Given the description of an element on the screen output the (x, y) to click on. 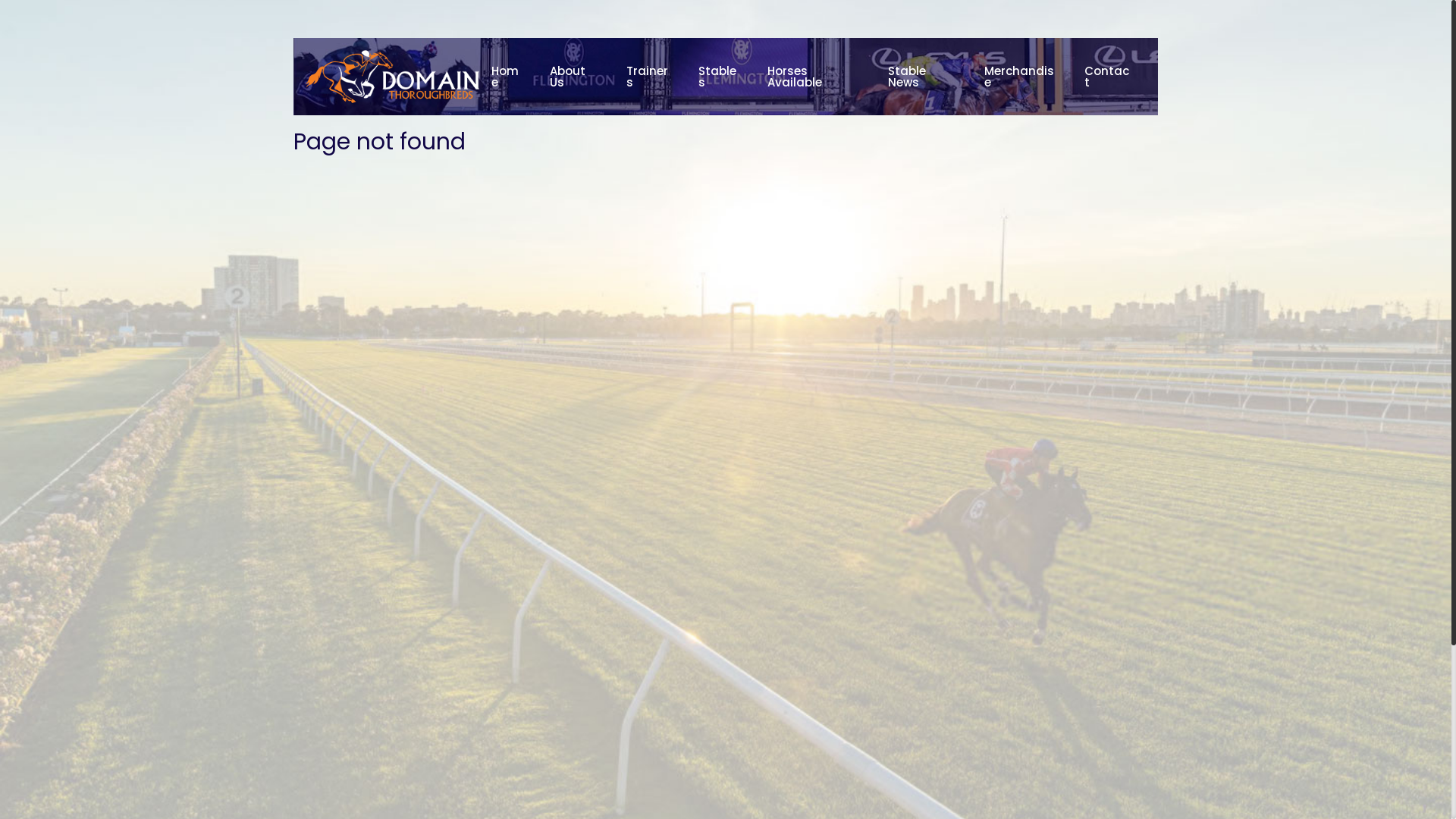
Horses Available Element type: text (815, 76)
Trainers Element type: text (650, 76)
Home Element type: text (507, 76)
Merchandise Element type: text (1022, 76)
Contact Element type: text (1108, 76)
Stable News Element type: text (923, 76)
About Us Element type: text (575, 76)
Stables Element type: text (720, 76)
